Given the description of an element on the screen output the (x, y) to click on. 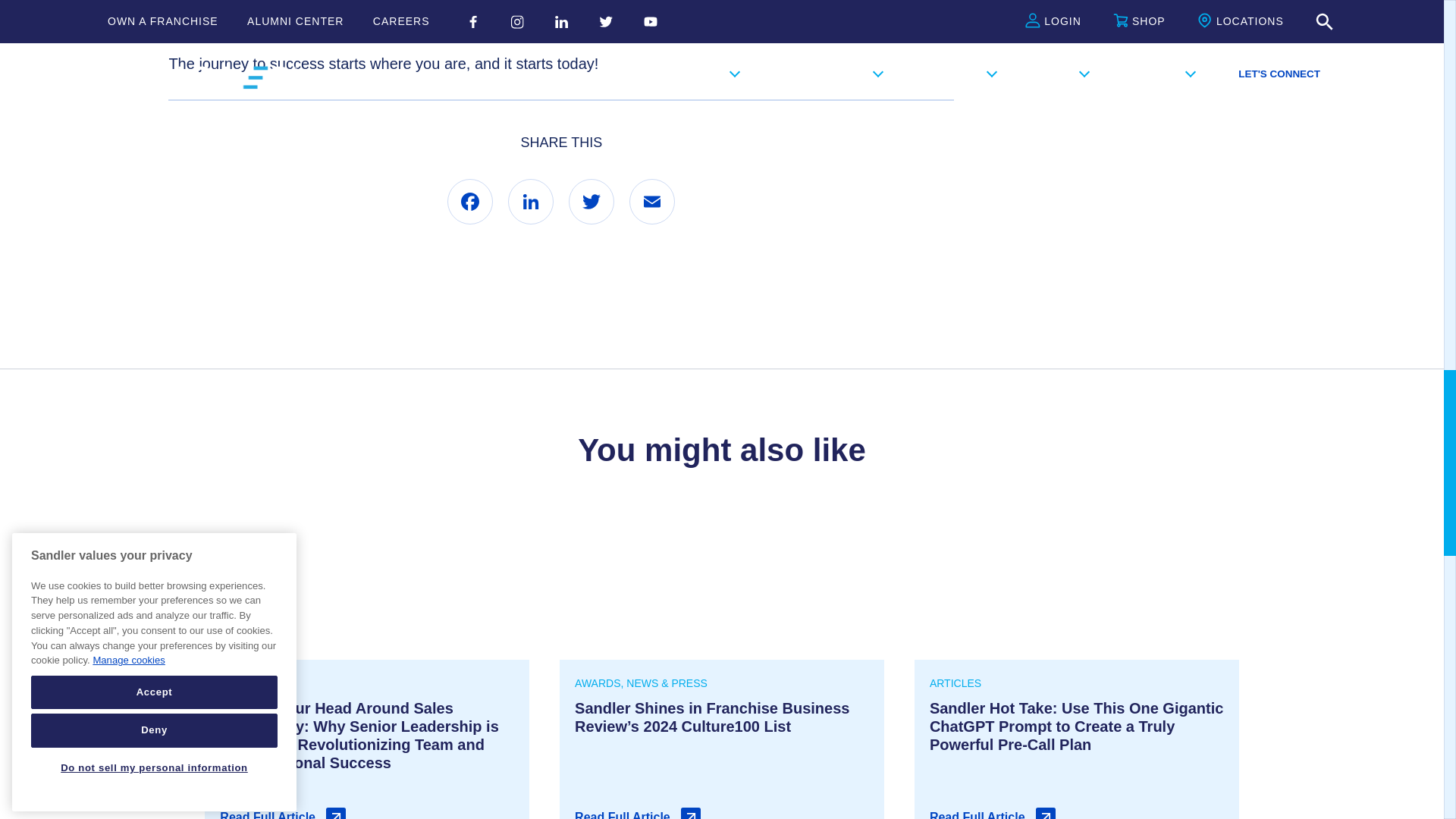
Email (651, 201)
Twitter (591, 201)
Facebook (469, 201)
LinkedIn (530, 201)
